Given the description of an element on the screen output the (x, y) to click on. 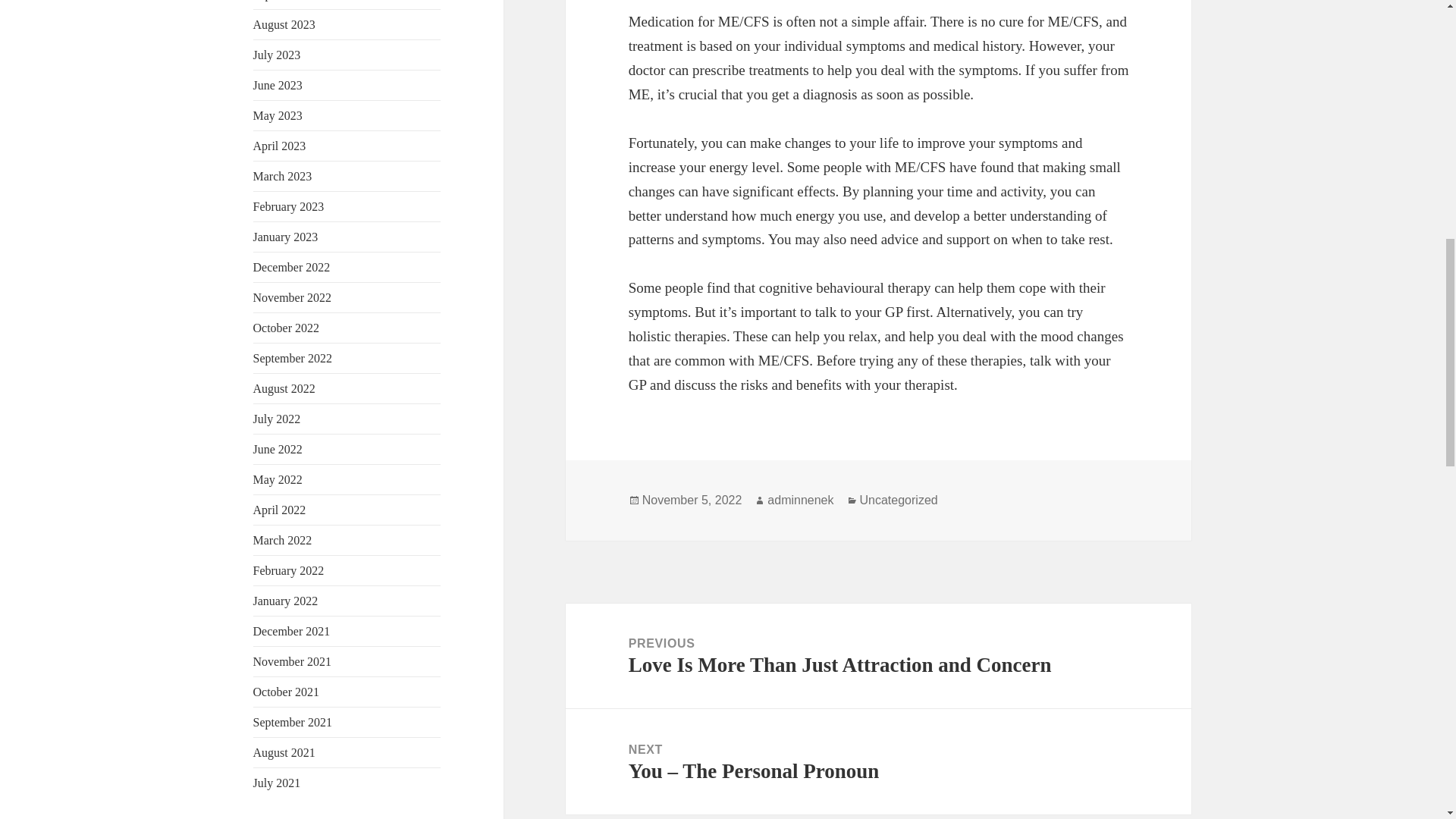
August 2023 (284, 24)
November 2022 (292, 297)
May 2023 (277, 115)
June 2023 (277, 84)
April 2022 (279, 509)
December 2022 (291, 267)
May 2022 (277, 479)
March 2022 (283, 540)
June 2022 (277, 449)
